Given the description of an element on the screen output the (x, y) to click on. 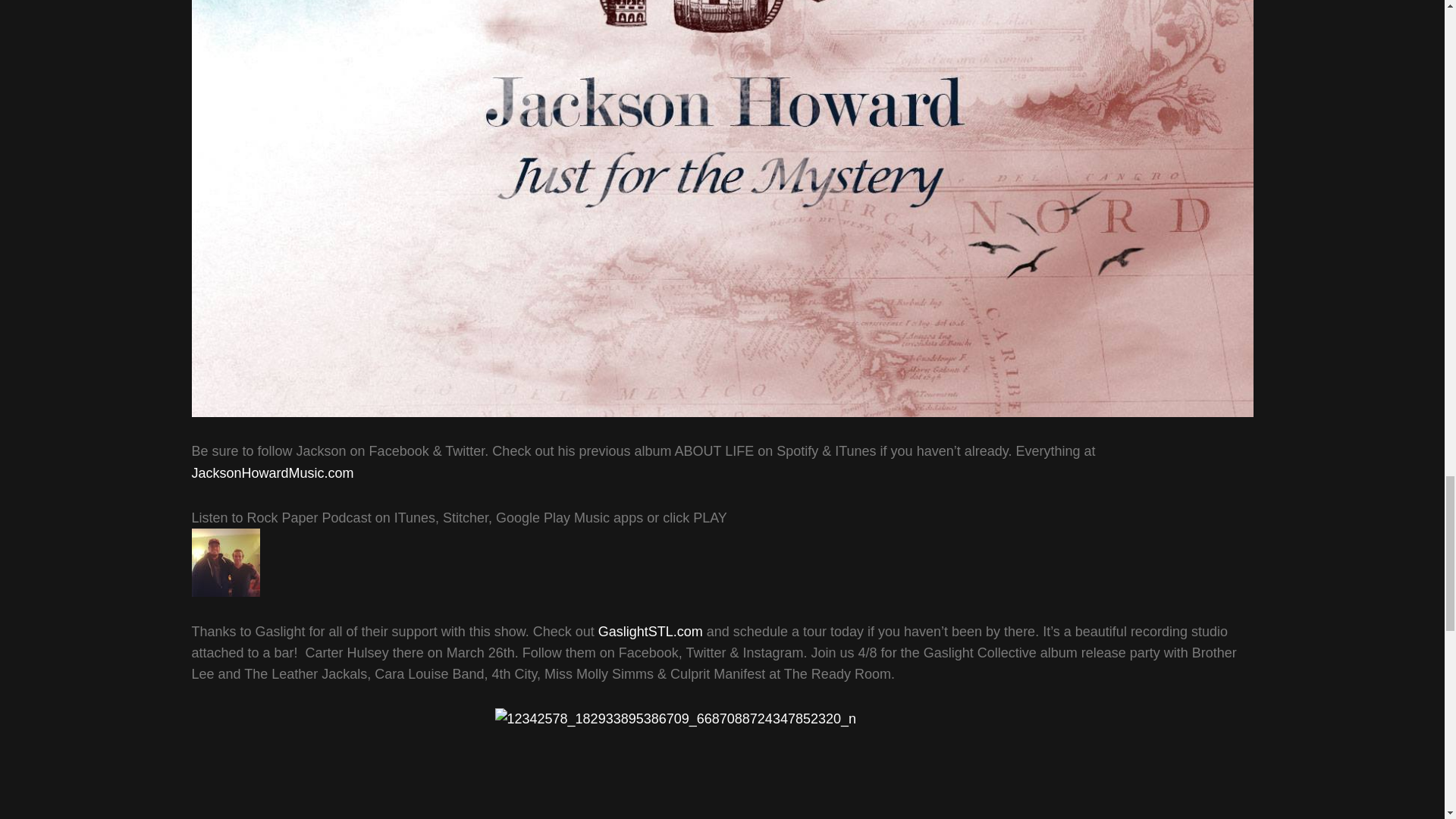
GaslightSTL.com (650, 631)
JacksonHowardMusic.com (271, 473)
